Given the description of an element on the screen output the (x, y) to click on. 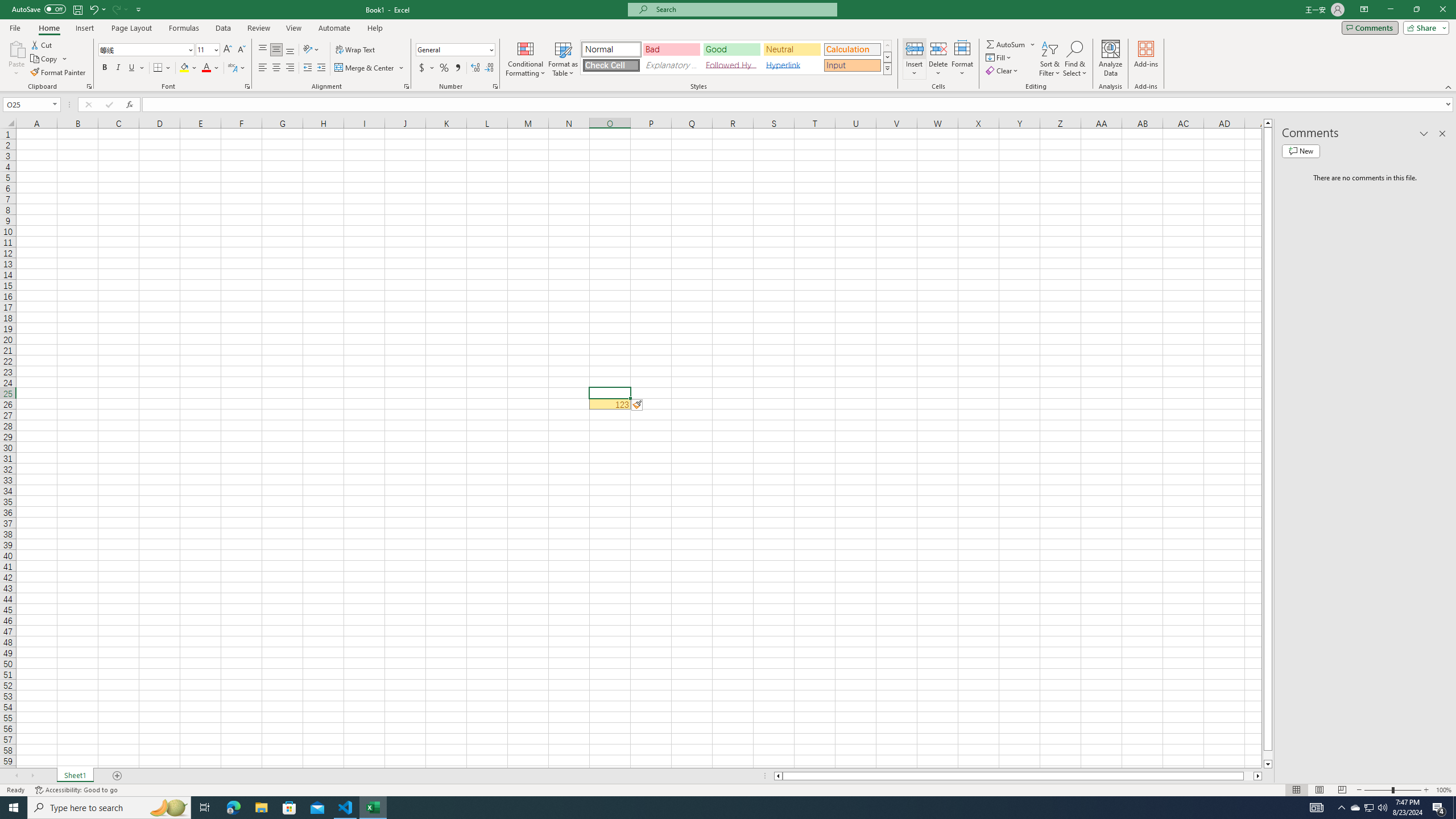
Scroll Left (16, 775)
Bad (671, 49)
Add Sheet (117, 775)
Help (374, 28)
Fill Color RGB(255, 255, 0) (183, 67)
Line down (1267, 764)
Copy (49, 58)
Hyperlink (791, 65)
New comment (1300, 151)
Increase Font Size (227, 49)
Font Color RGB(255, 0, 0) (206, 67)
Review (258, 28)
